Given the description of an element on the screen output the (x, y) to click on. 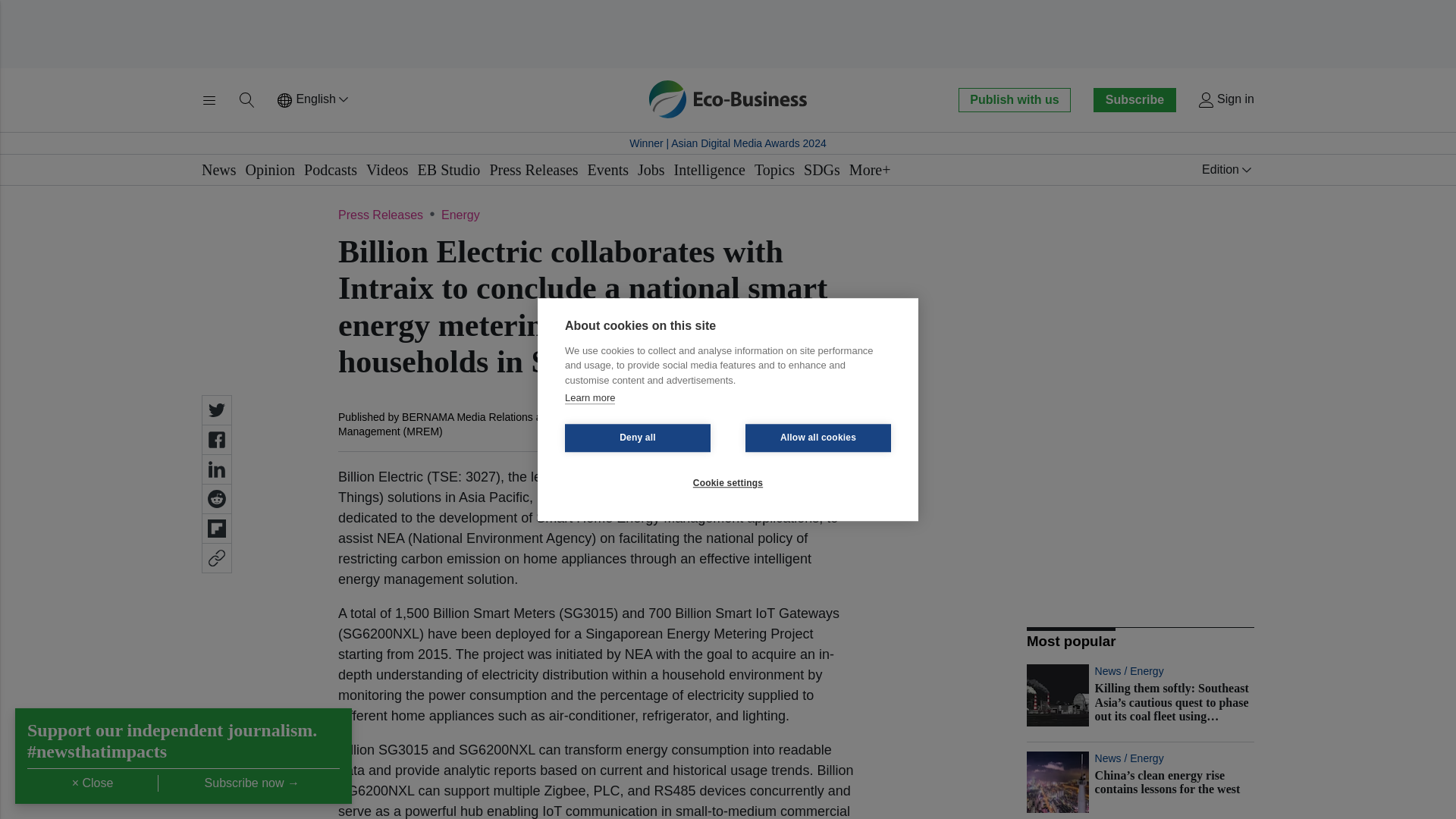
Toggle menu (209, 99)
Share on Twitter (216, 409)
Learn more (589, 398)
Menu (209, 99)
Sign in (1225, 99)
English (314, 99)
3rd party ad content (727, 33)
Share on LinkedIn (216, 469)
Toggle search (247, 99)
Share on Facebook (216, 440)
